Given the description of an element on the screen output the (x, y) to click on. 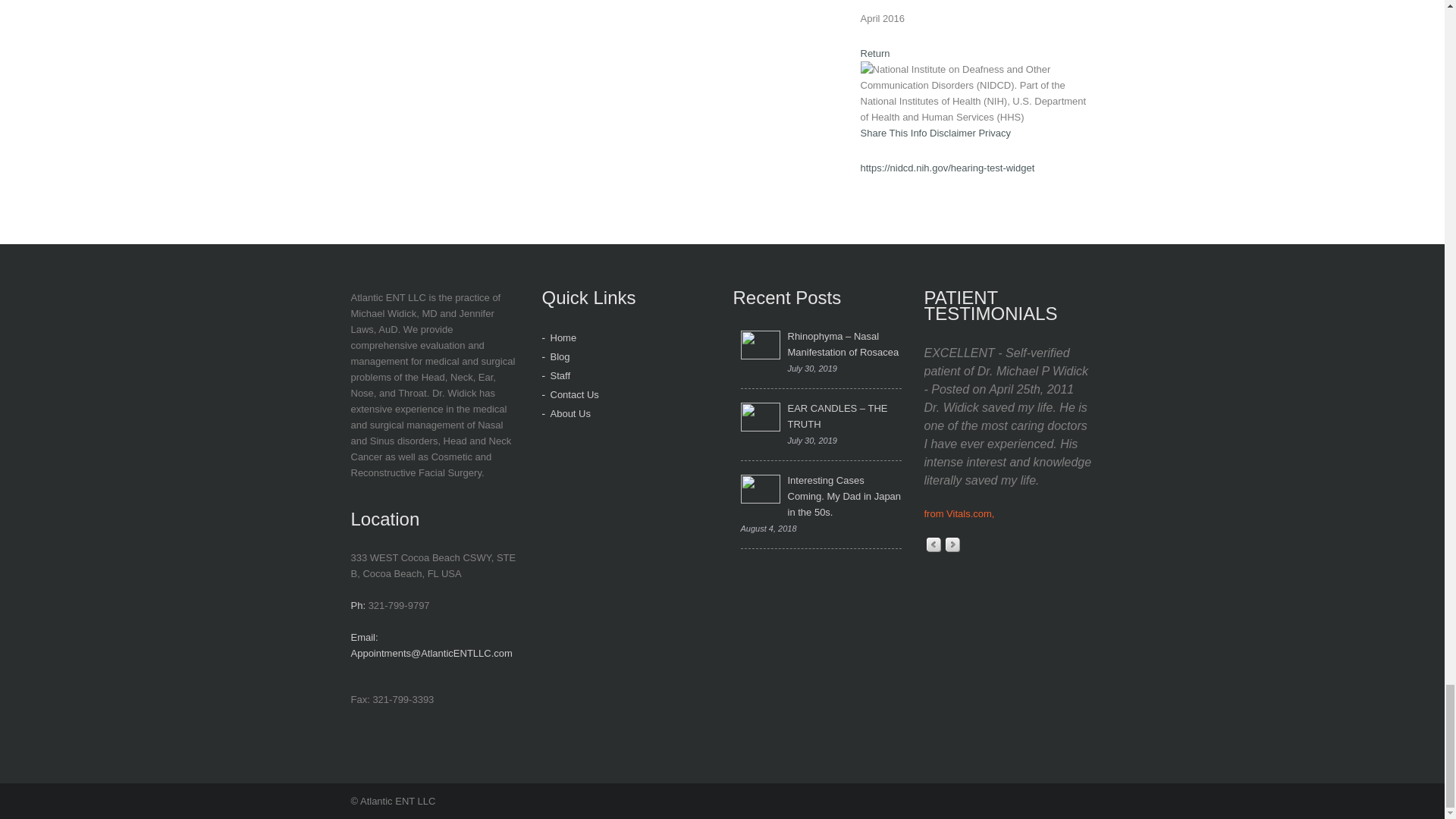
Info (919, 132)
Contact Us (574, 394)
Return (874, 52)
from Vitals.com, (958, 513)
Home (563, 337)
Blog (560, 356)
Disclaimer (952, 132)
Interesting Cases Coming. My Dad in Japan in the 50s. (820, 496)
Staff (560, 375)
Share This (883, 132)
About Us (570, 413)
Privacy (994, 132)
